Given the description of an element on the screen output the (x, y) to click on. 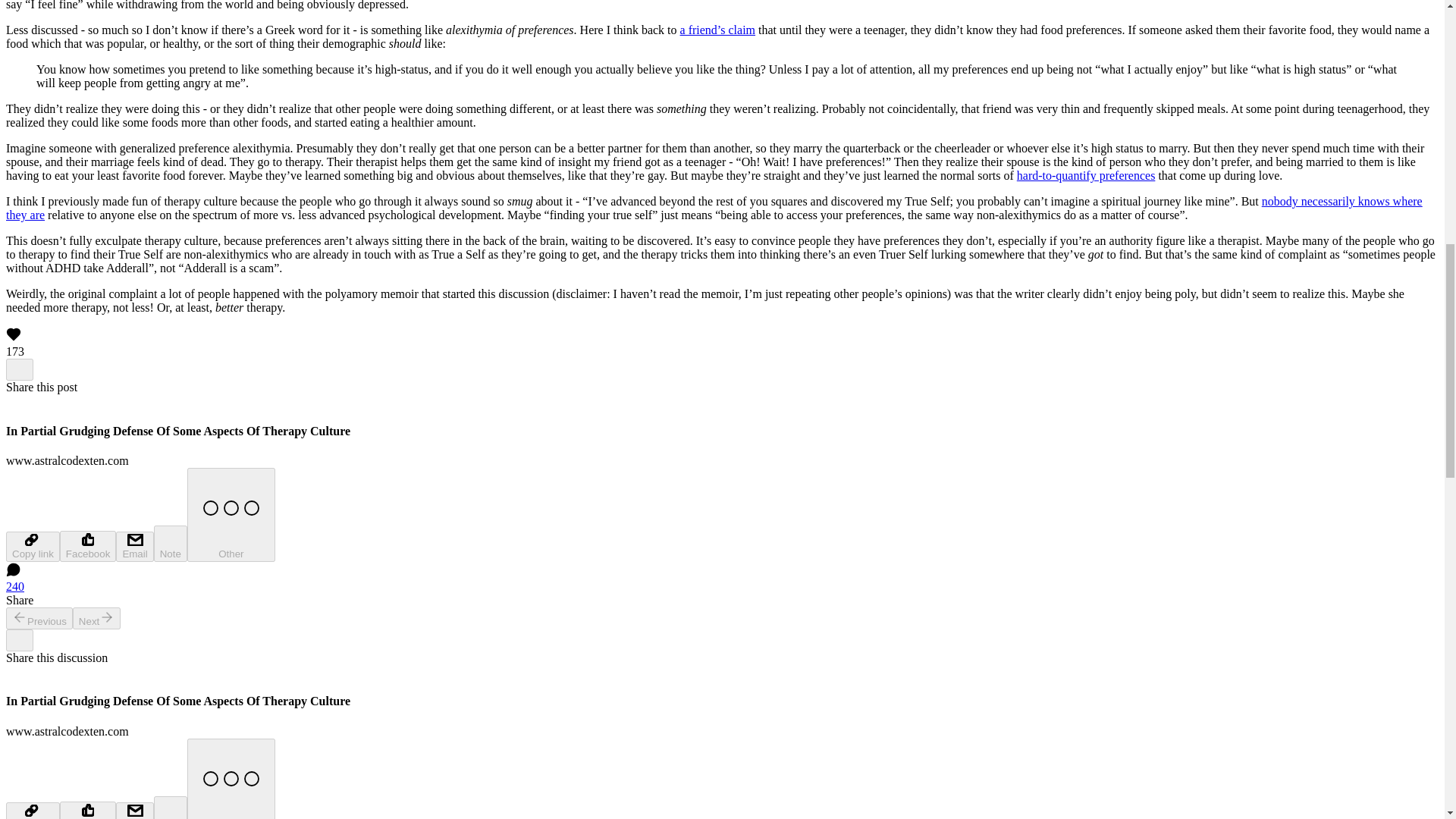
Email (134, 546)
Next (96, 618)
Other (231, 514)
Facebook (87, 545)
nobody necessarily knows where they are (713, 207)
Note (170, 543)
Email (134, 810)
Copy link (32, 810)
Copy link (32, 546)
hard-to-quantify preferences (1086, 174)
Facebook (87, 810)
Previous (38, 618)
